Given the description of an element on the screen output the (x, y) to click on. 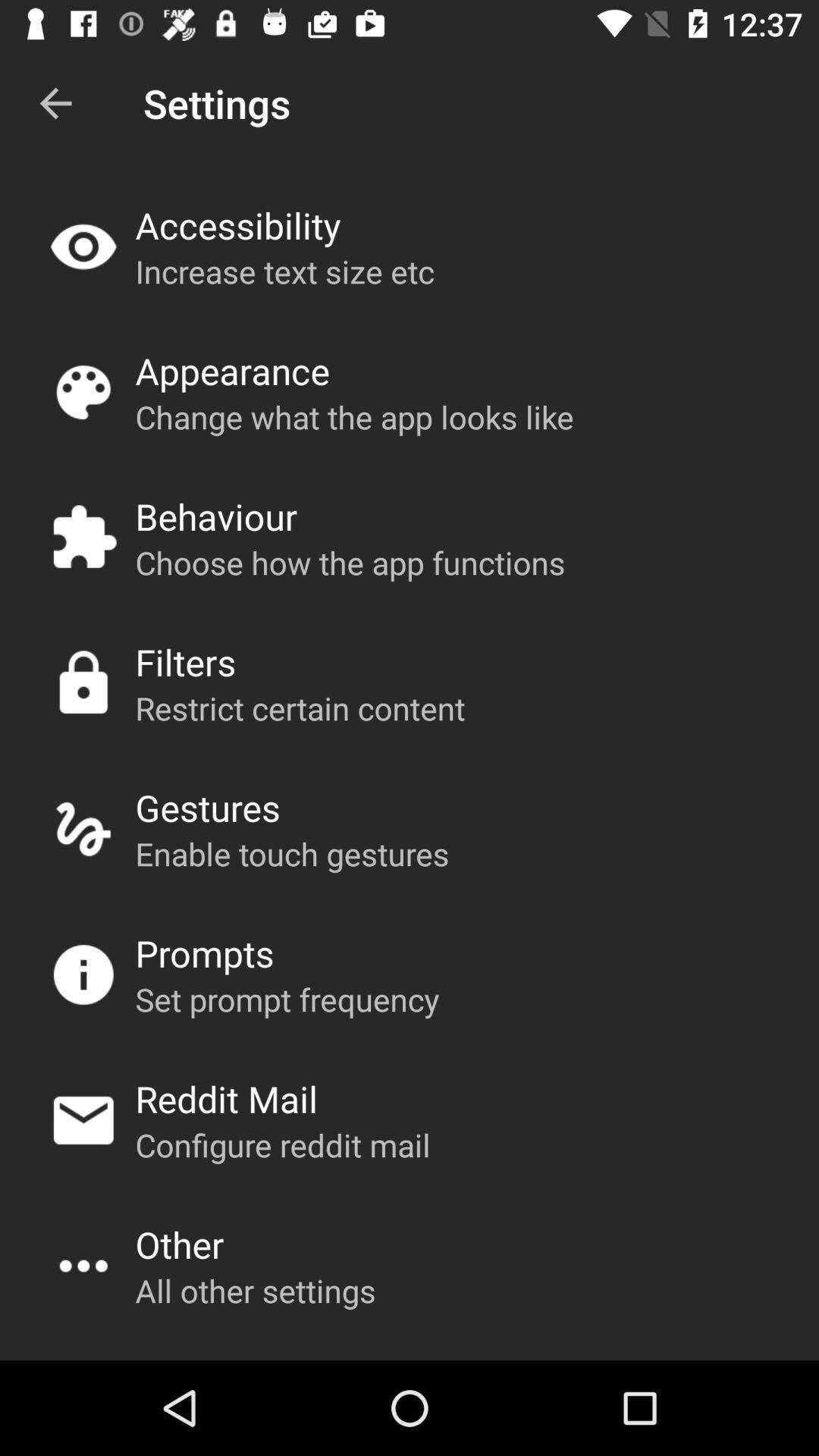
click the accessibility (237, 224)
